Given the description of an element on the screen output the (x, y) to click on. 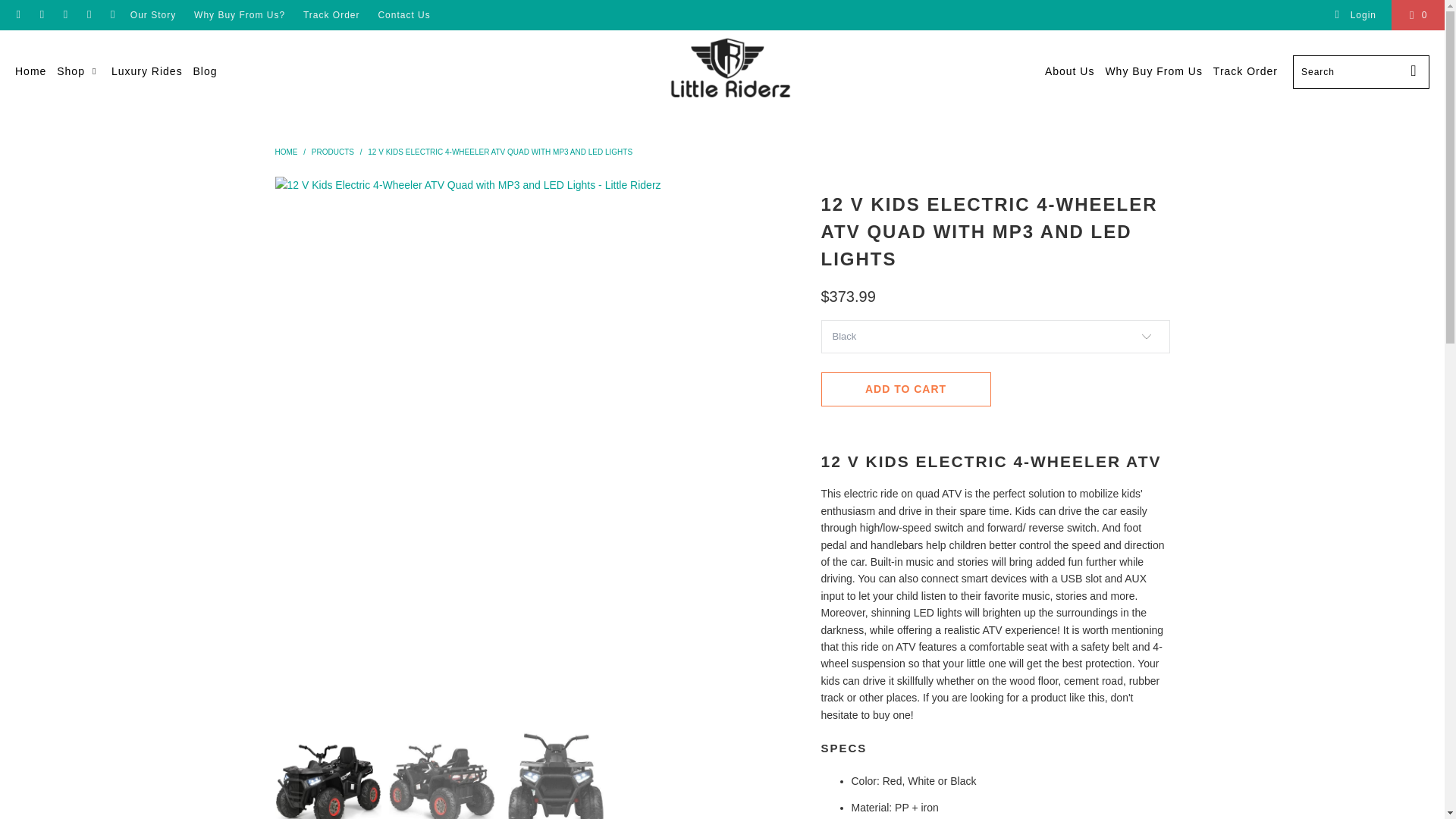
Little Riderz (729, 71)
Little Riderz (286, 152)
Email Little Riderz (112, 14)
Little Riderz on Instagram (87, 14)
My Account  (1355, 15)
Little Riderz on Pinterest (64, 14)
Little Riderz on Twitter (17, 14)
Little Riderz on Facebook (41, 14)
Products (332, 152)
